Given the description of an element on the screen output the (x, y) to click on. 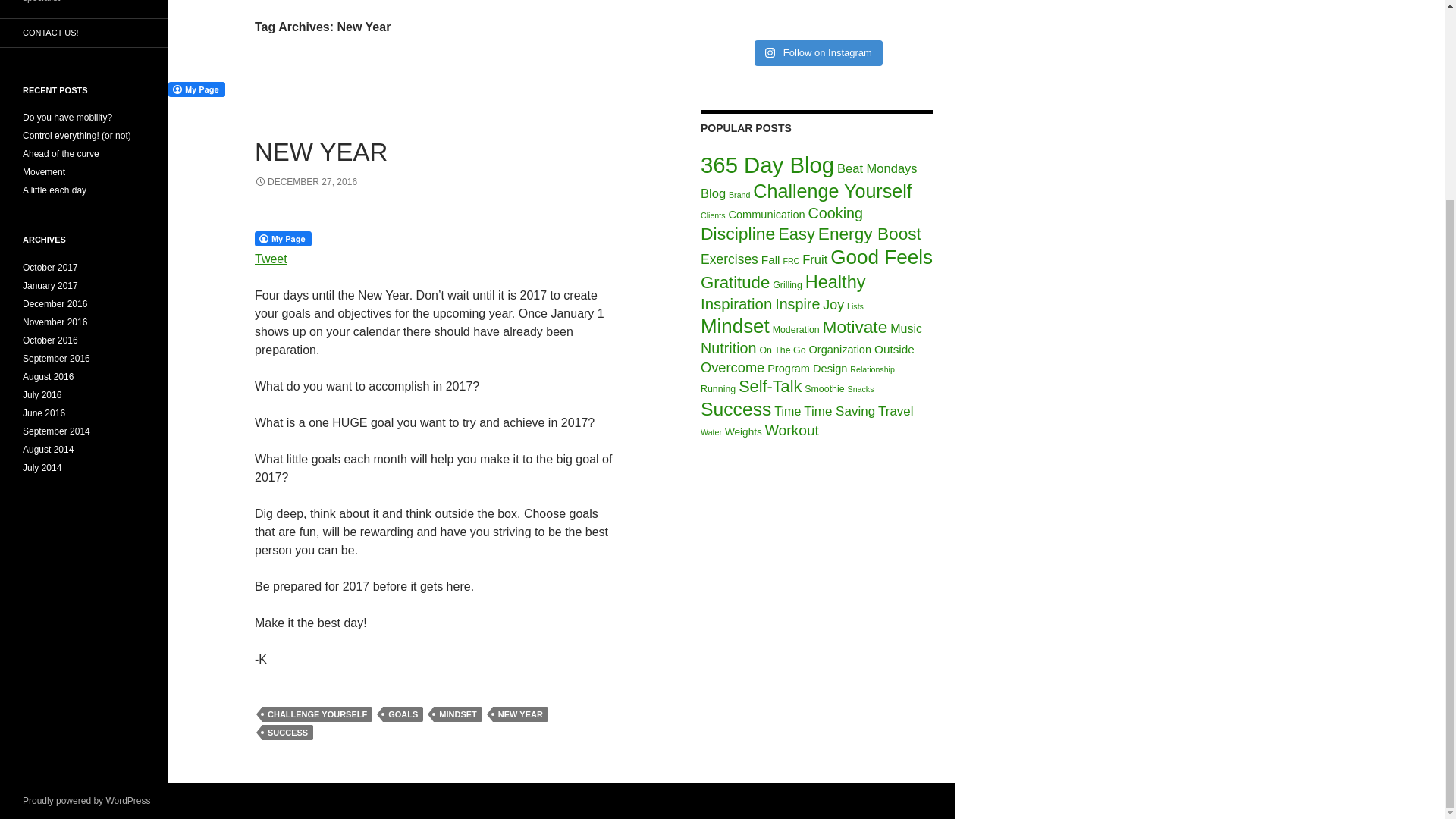
Fruit (814, 259)
SUCCESS (287, 732)
Good Feels (881, 256)
CHALLENGE YOURSELF (317, 713)
Cooking (835, 211)
FRC (791, 260)
Easy (796, 233)
GOALS (402, 713)
Tweet (270, 258)
Fall (770, 259)
NEW YEAR (320, 152)
Beat Mondays (877, 168)
Follow on Instagram (818, 53)
Discipline (737, 233)
MINDSET (457, 713)
